Given the description of an element on the screen output the (x, y) to click on. 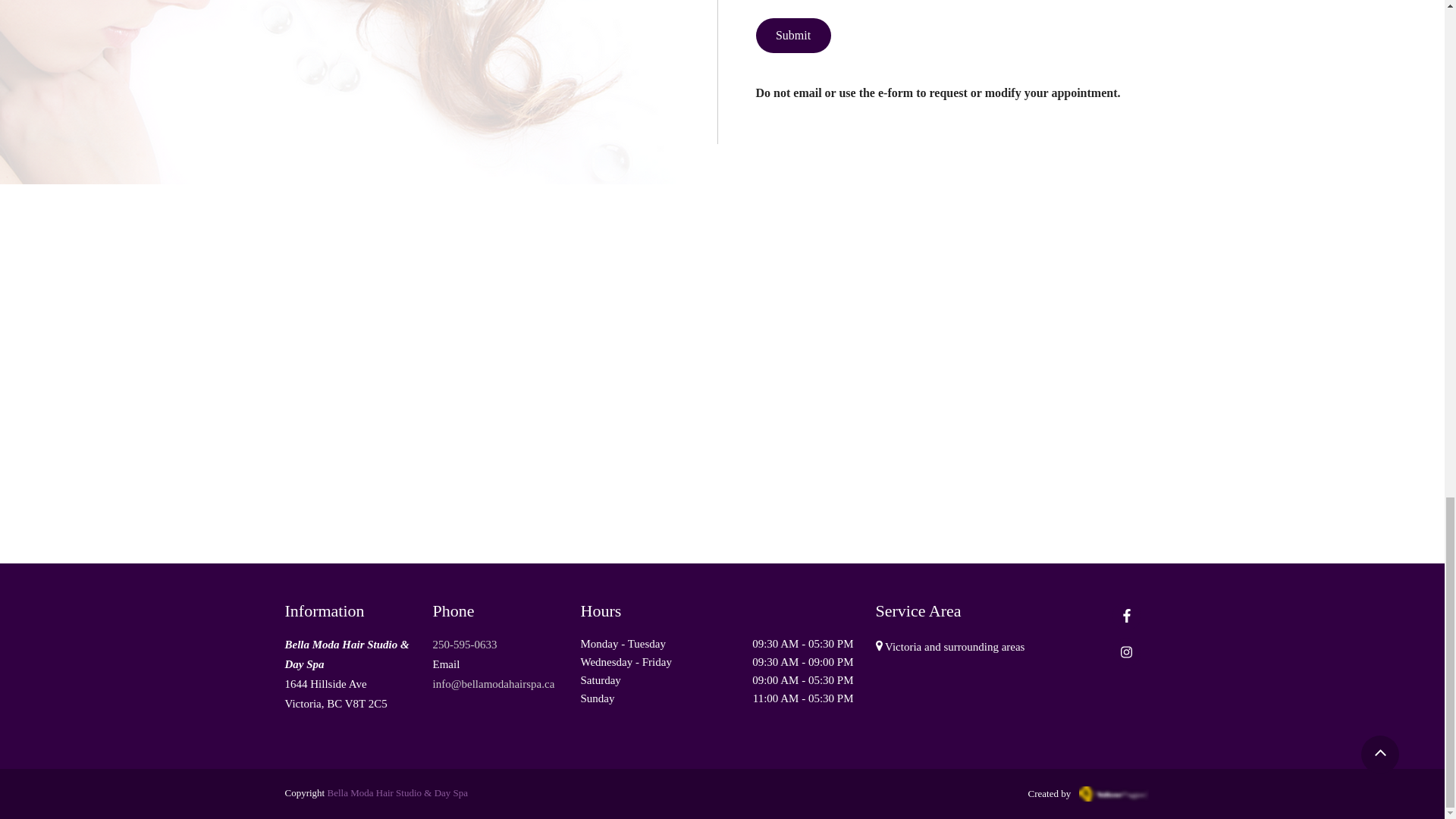
250-595-0633 (464, 644)
Submit (792, 35)
